Given the description of an element on the screen output the (x, y) to click on. 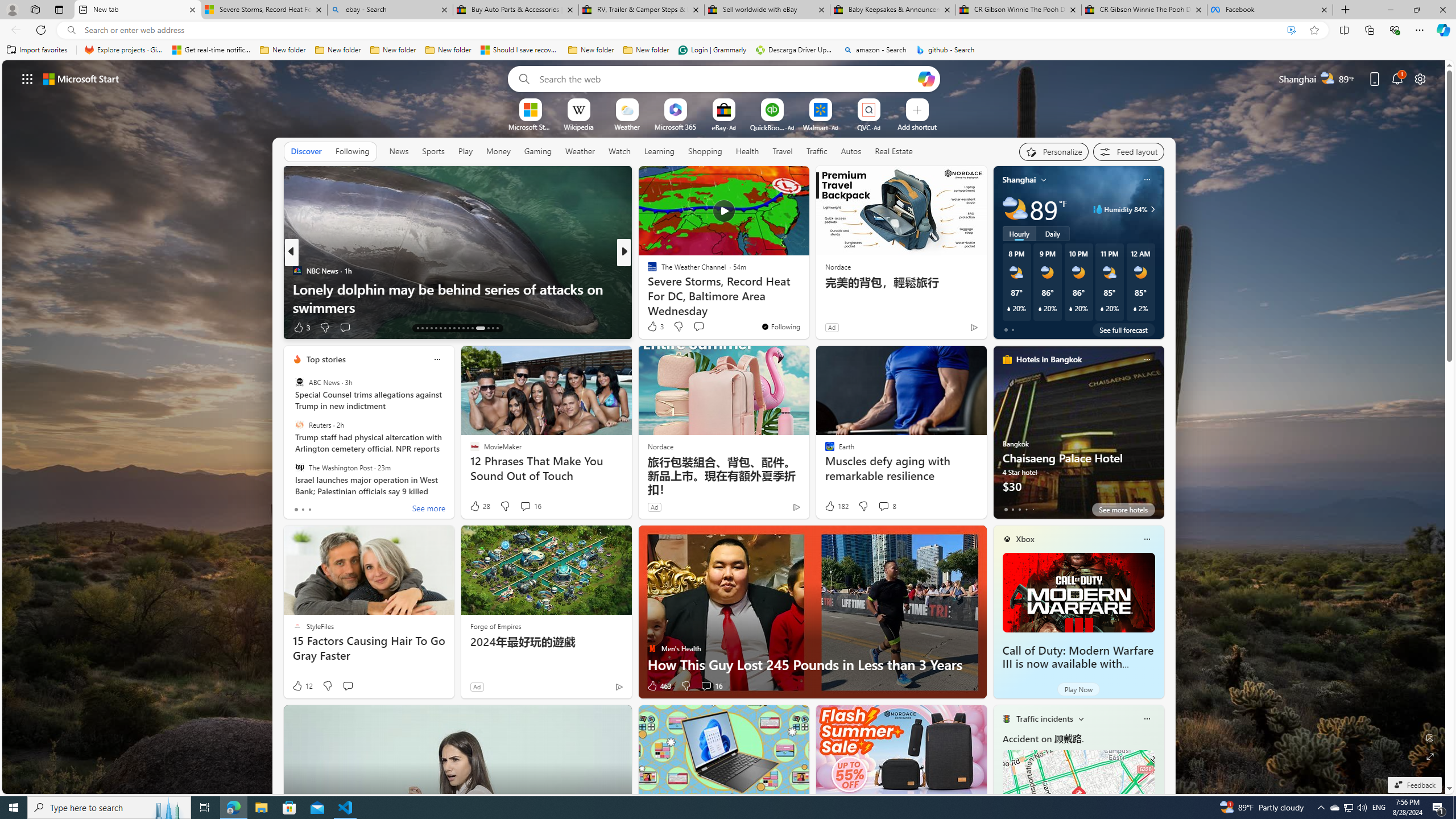
My location (1043, 179)
99 Like (652, 327)
Health (746, 151)
Microsoft start (81, 78)
Forge of Empires (495, 625)
More Options (886, 101)
Chaisaeng Palace Hotel (1078, 436)
tab-3 (1025, 509)
Class: weather-arrow-glyph (1152, 208)
